Given the description of an element on the screen output the (x, y) to click on. 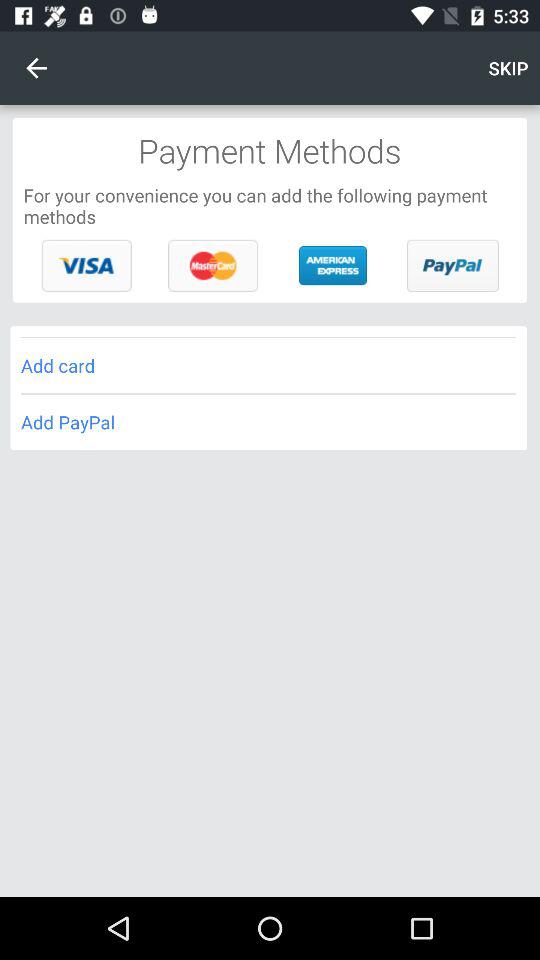
tap the icon above payment methods icon (36, 68)
